Given the description of an element on the screen output the (x, y) to click on. 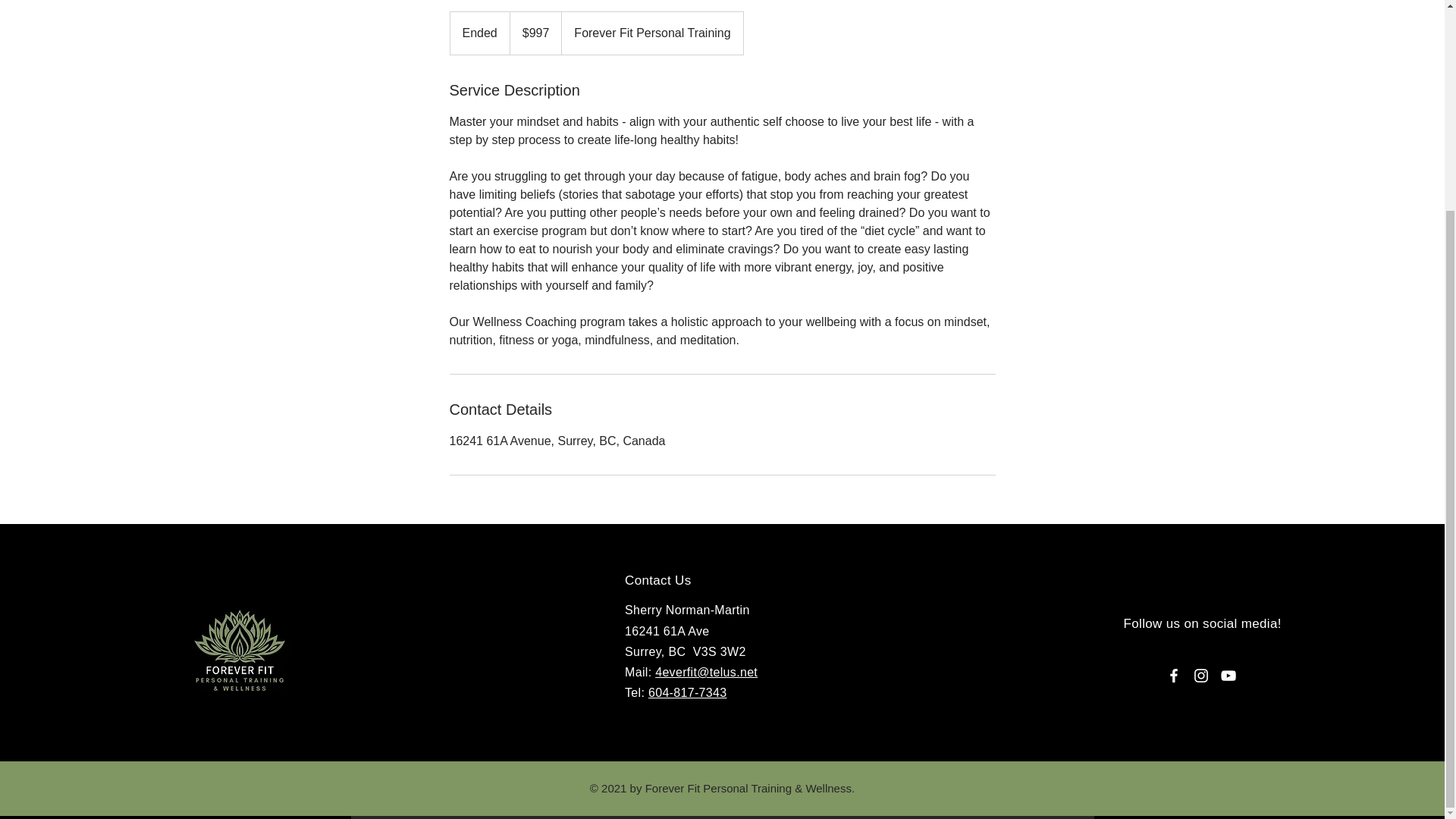
604-817-7343 (686, 692)
